Given the description of an element on the screen output the (x, y) to click on. 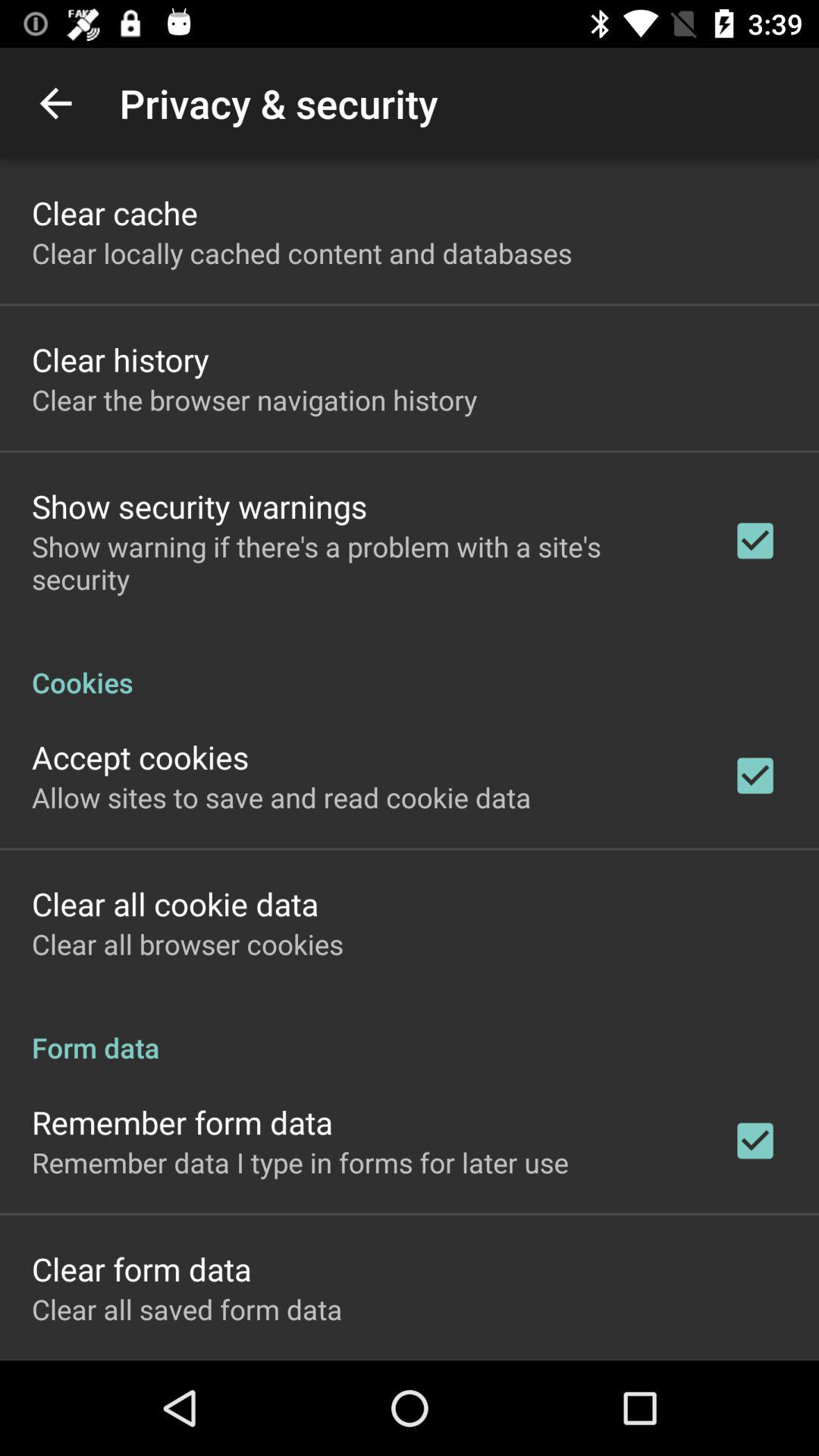
scroll to the clear cache (114, 212)
